Given the description of an element on the screen output the (x, y) to click on. 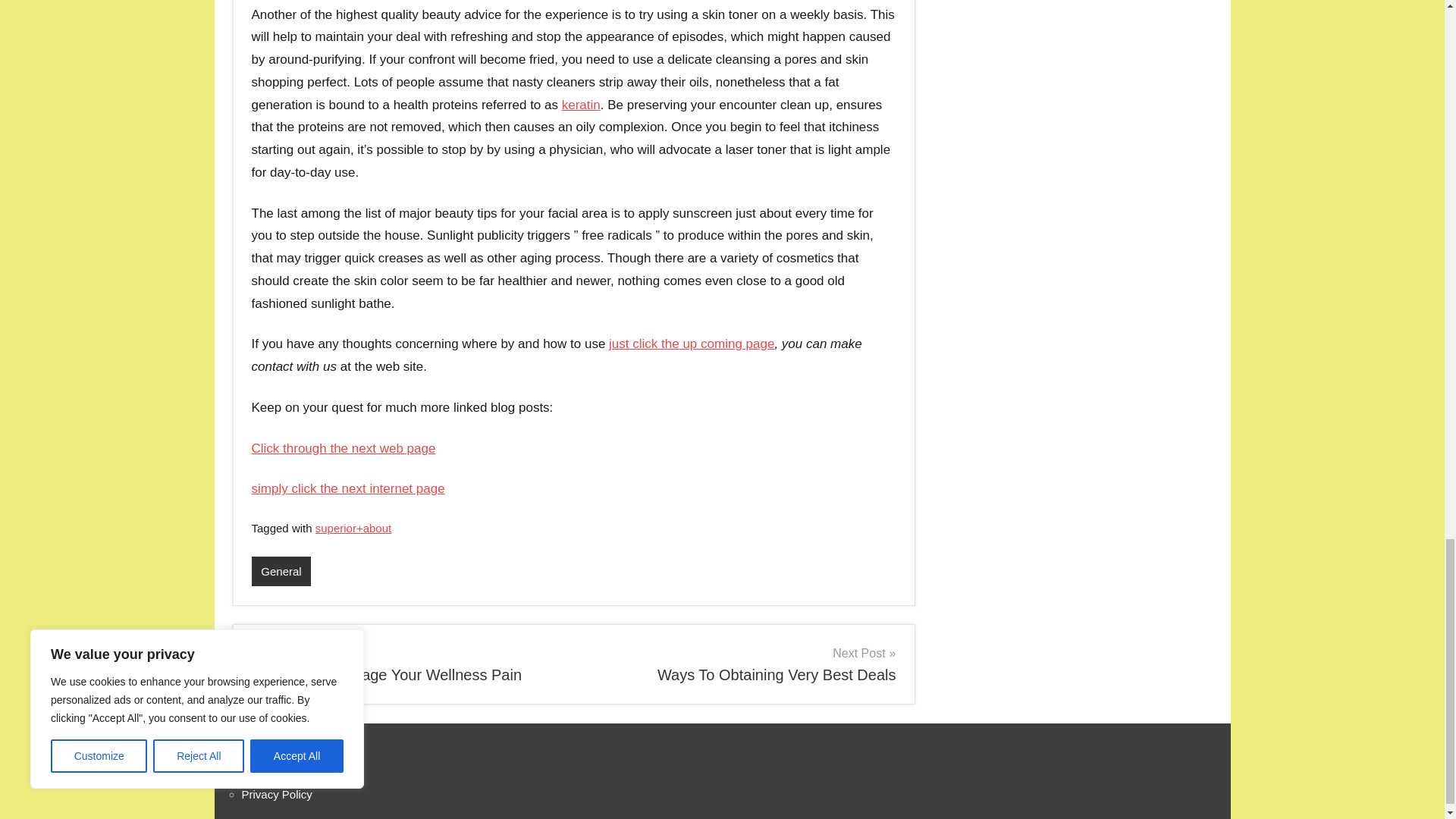
Click through the next web page (343, 448)
just click the up coming page (691, 343)
General (281, 571)
simply click the next internet page (740, 663)
keratin (406, 663)
